Given the description of an element on the screen output the (x, y) to click on. 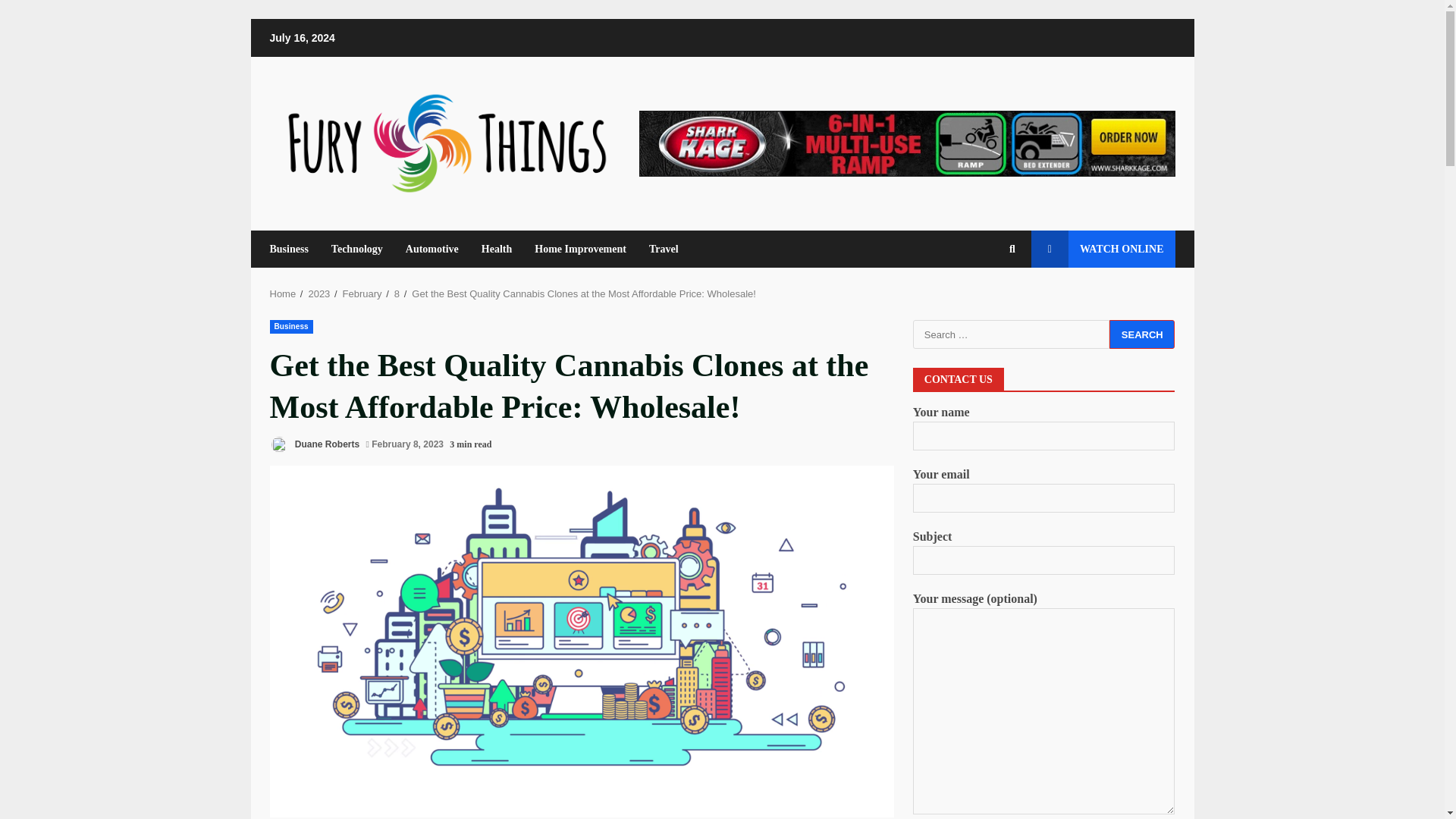
Search (1141, 334)
Health (496, 248)
Business (294, 248)
WATCH ONLINE (1102, 248)
Search (1141, 334)
Search (1011, 248)
Automotive (432, 248)
Travel (657, 248)
Home Improvement (579, 248)
Business (291, 326)
February (361, 293)
Home (283, 293)
Search (1141, 334)
